Given the description of an element on the screen output the (x, y) to click on. 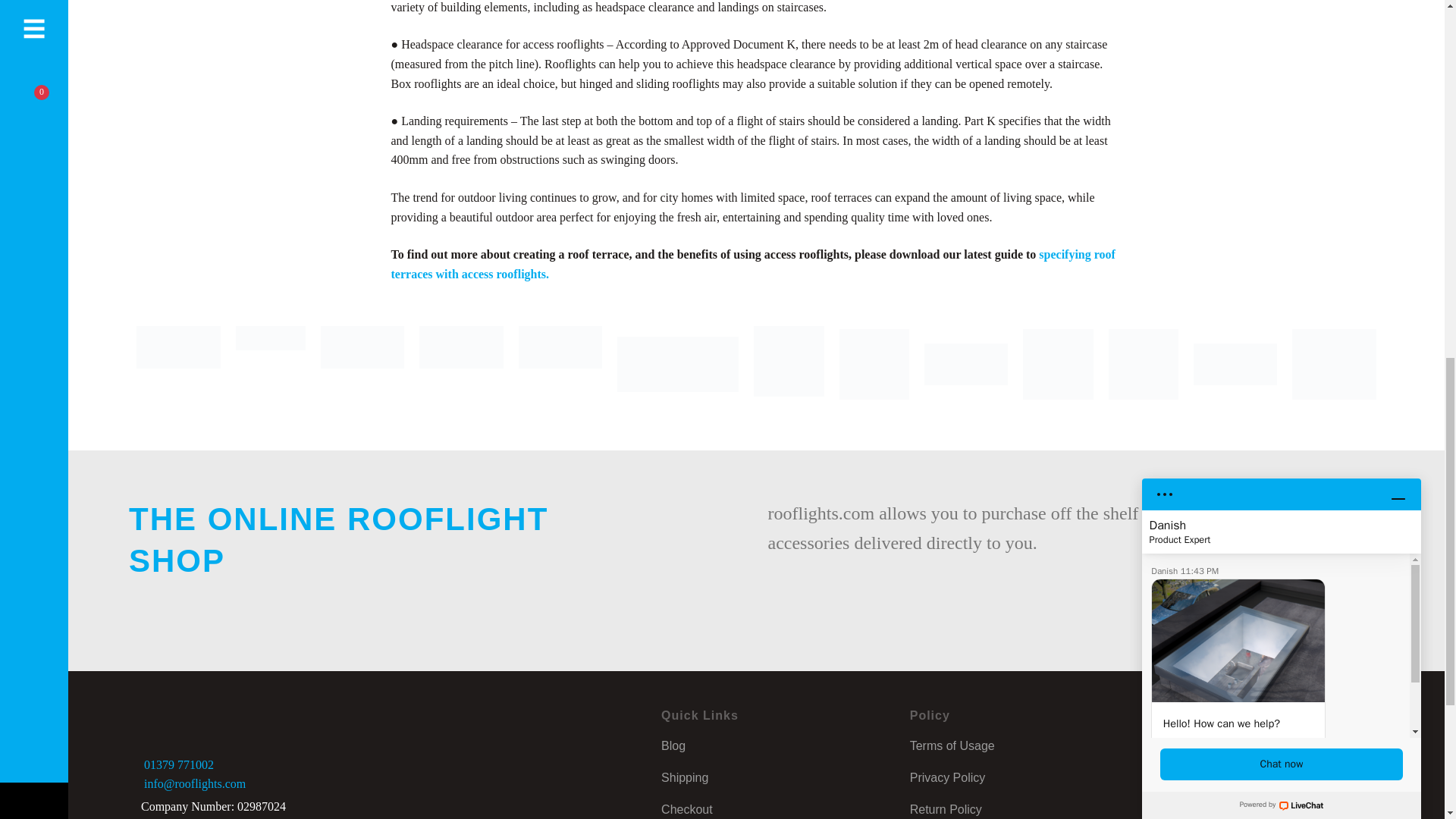
Velux Logo (270, 363)
Glazing Vision Logo (178, 363)
CRASH Charity (789, 363)
Sona Logo (560, 363)
Fakro Logo (461, 363)
Korniche Logo (362, 363)
